Given the description of an element on the screen output the (x, y) to click on. 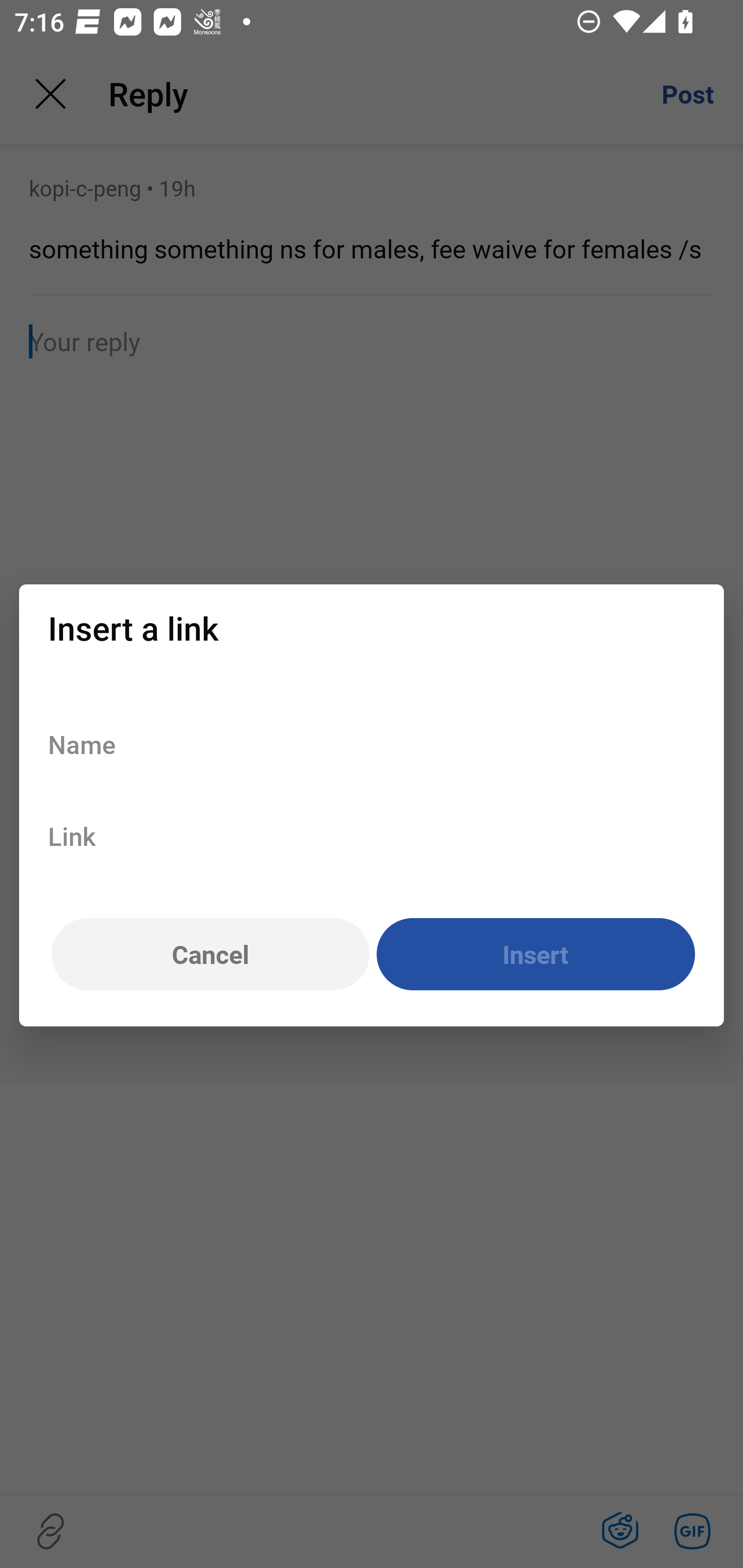
Name (371, 743)
Link (371, 835)
Cancel (210, 954)
Insert (535, 954)
